Given the description of an element on the screen output the (x, y) to click on. 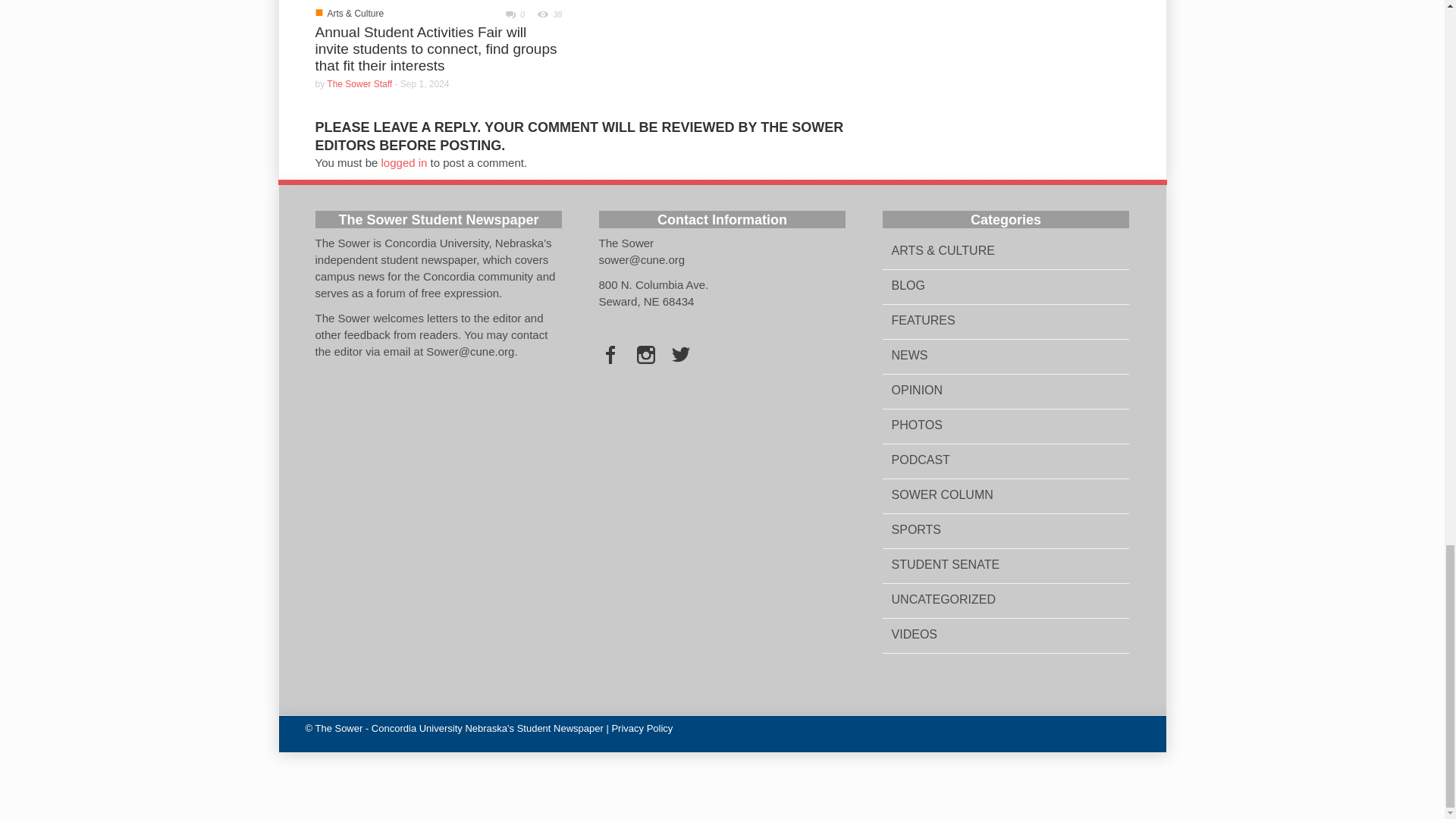
The Sower Staff (358, 83)
0 (509, 13)
